Given the description of an element on the screen output the (x, y) to click on. 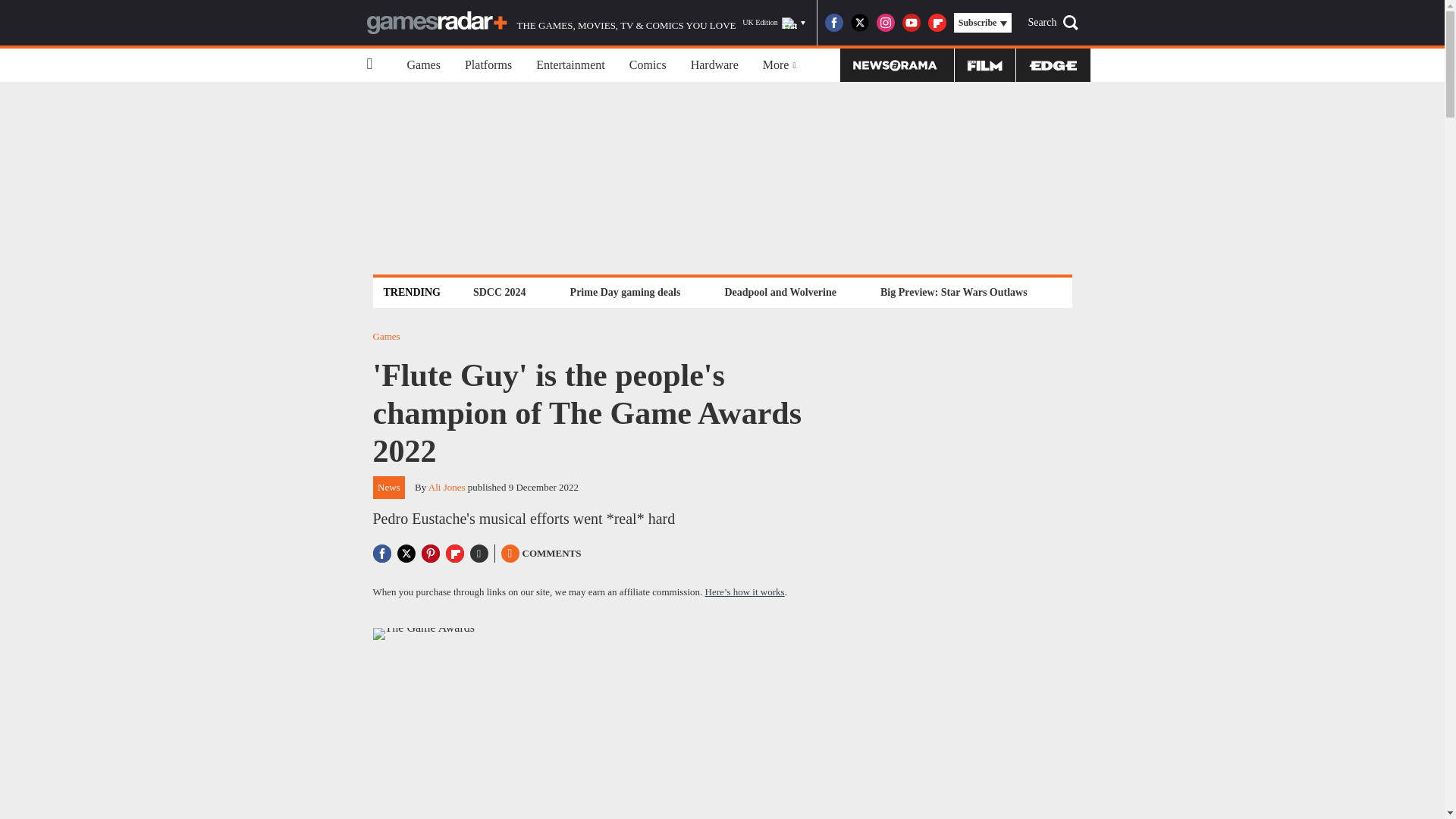
Deadpool and Wolverine (780, 292)
UK Edition (773, 22)
SDCC 2024 (499, 292)
Games (422, 64)
Comics (647, 64)
Prime Day gaming deals (624, 292)
Hardware (714, 64)
Entertainment (570, 64)
Big Preview: Star Wars Outlaws (953, 292)
Platforms (488, 64)
